Given the description of an element on the screen output the (x, y) to click on. 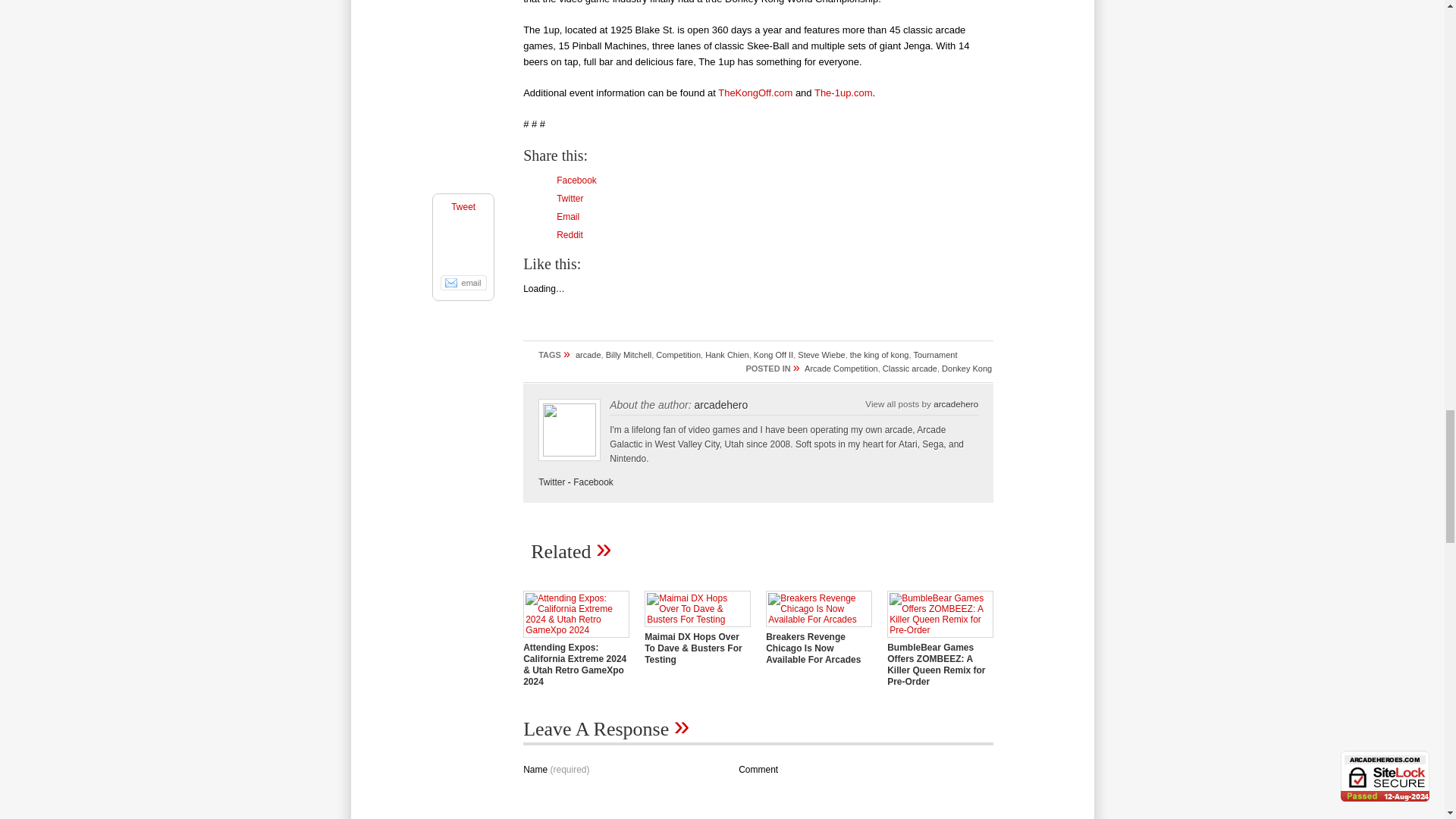
Email (567, 216)
TheKongOff.com (754, 92)
Kong Off II (773, 354)
Steve Wiebe (820, 354)
arcade (588, 354)
Posts by arcadehero (955, 403)
Facebook (576, 180)
arcadehero (721, 404)
Arcade Competition (841, 368)
Donkey Kong (966, 368)
